Given the description of an element on the screen output the (x, y) to click on. 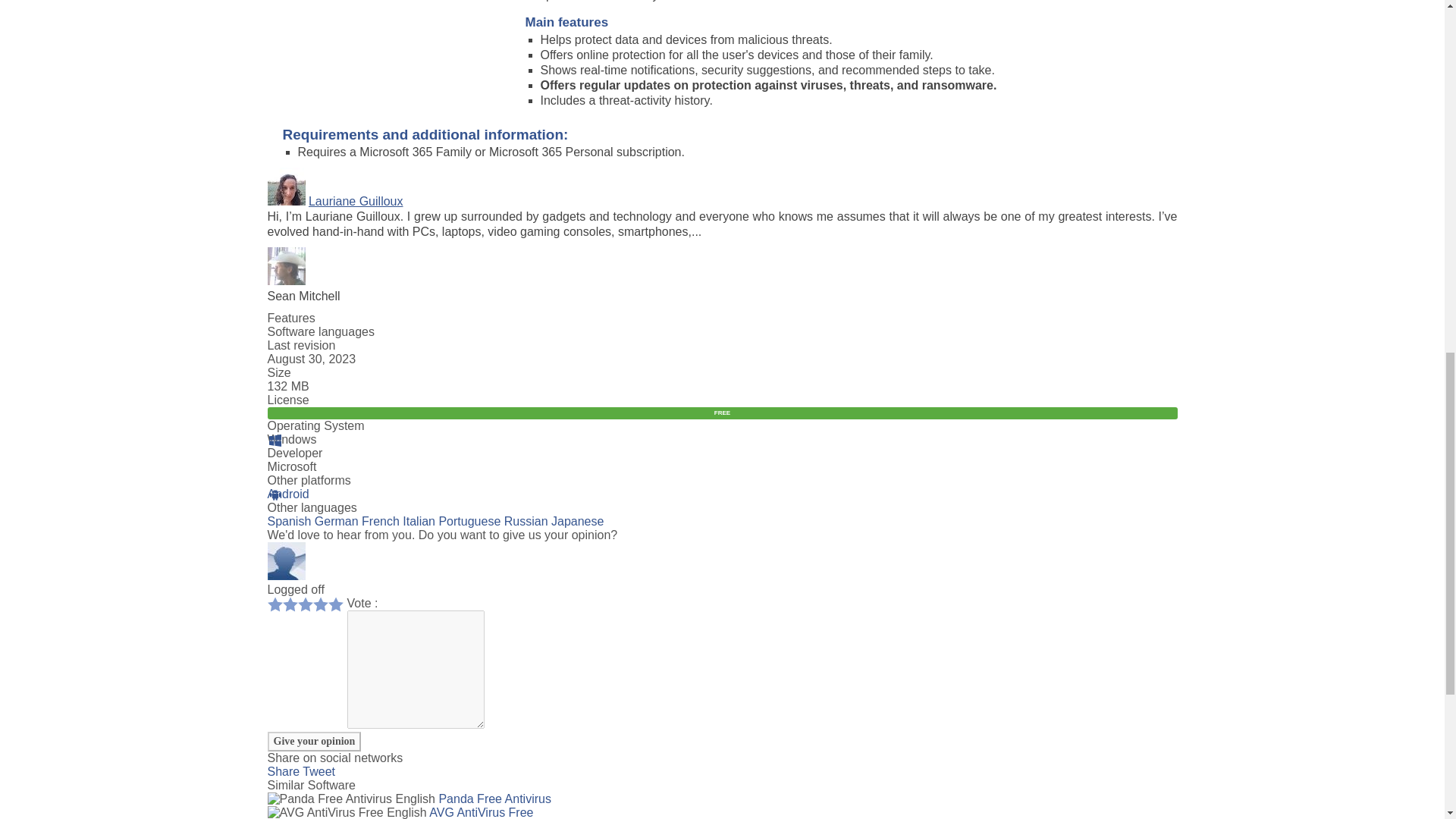
French (379, 521)
Lauriane Guilloux at Malavida (355, 201)
Italian (419, 521)
German (336, 521)
Russian (525, 521)
Lauriane Guilloux (355, 201)
Portuguese (469, 521)
Download Microsoft Defender free for Android (287, 493)
Spanish (288, 521)
Give your opinion (313, 741)
